Given the description of an element on the screen output the (x, y) to click on. 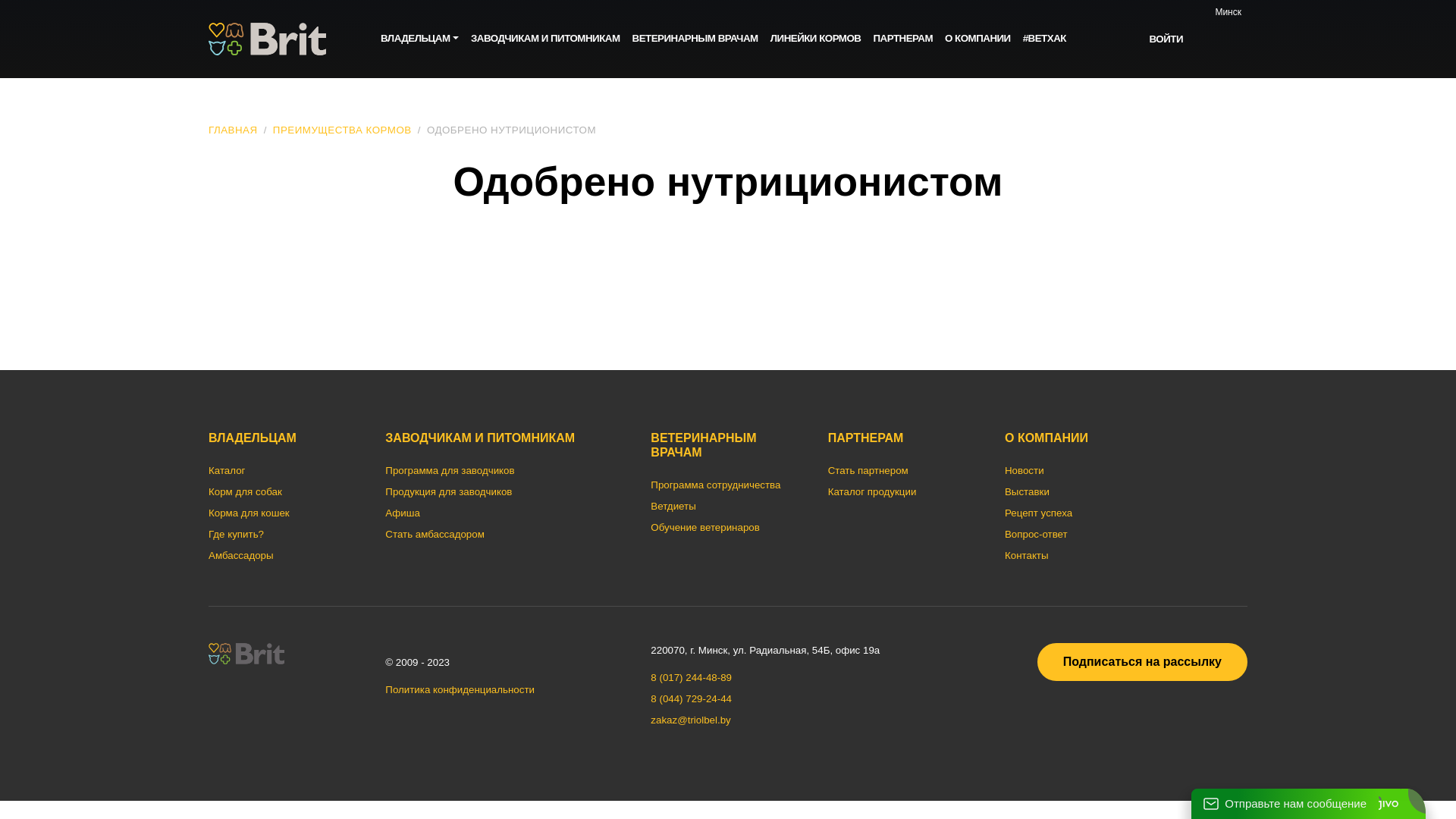
8 (017) 244-48-89 Element type: text (690, 677)
8 (044) 729-24-44 Element type: text (690, 698)
zakaz@triolbel.by Element type: text (690, 719)
